Given the description of an element on the screen output the (x, y) to click on. 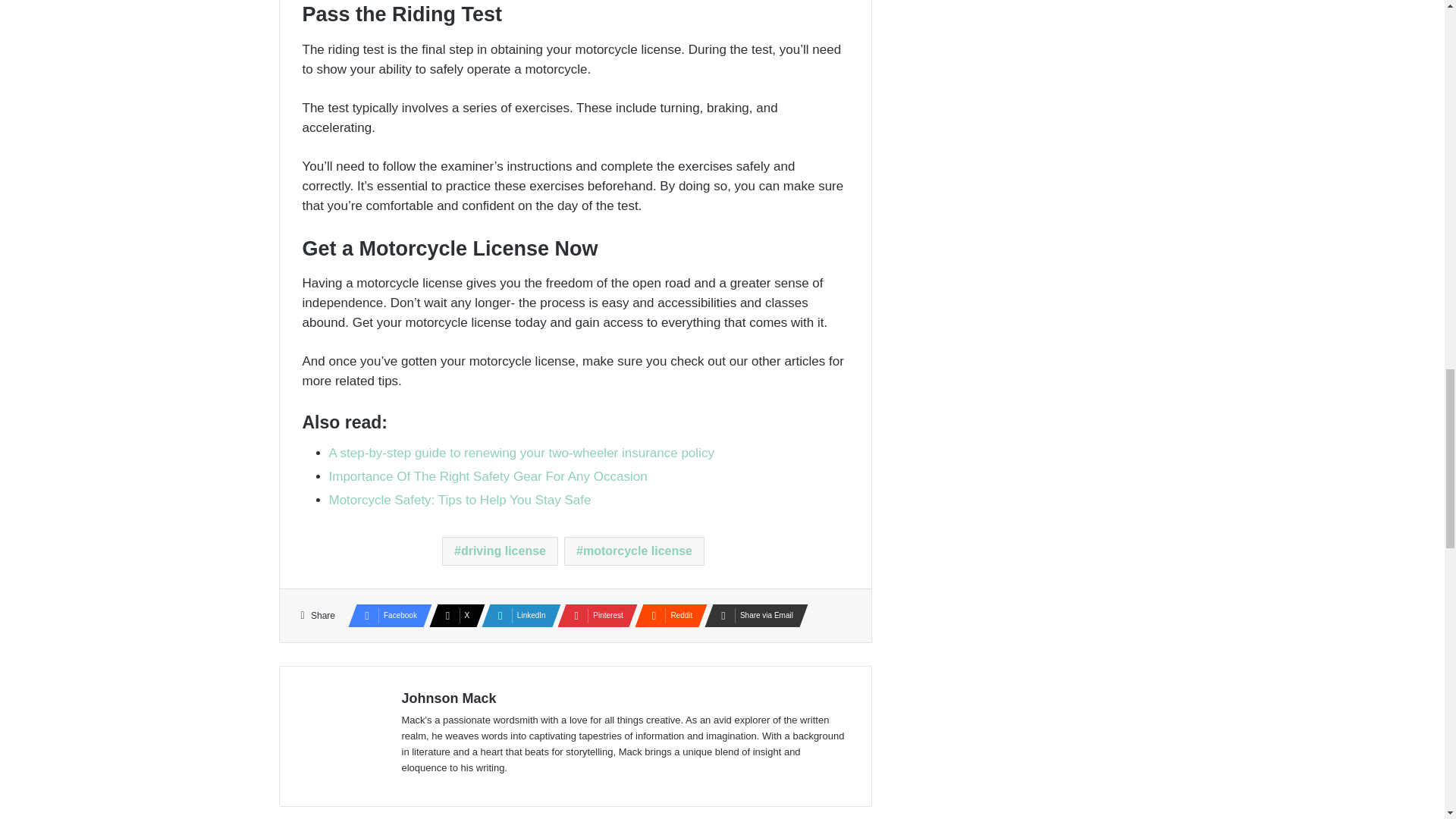
Share via Email (751, 615)
Facebook (385, 615)
LinkedIn (516, 615)
Reddit (666, 615)
X (452, 615)
Motorcycle Safety: Tips to Help You Stay Safe (460, 499)
Importance Of The Right Safety Gear For Any Occasion (488, 476)
Pinterest (592, 615)
